Given the description of an element on the screen output the (x, y) to click on. 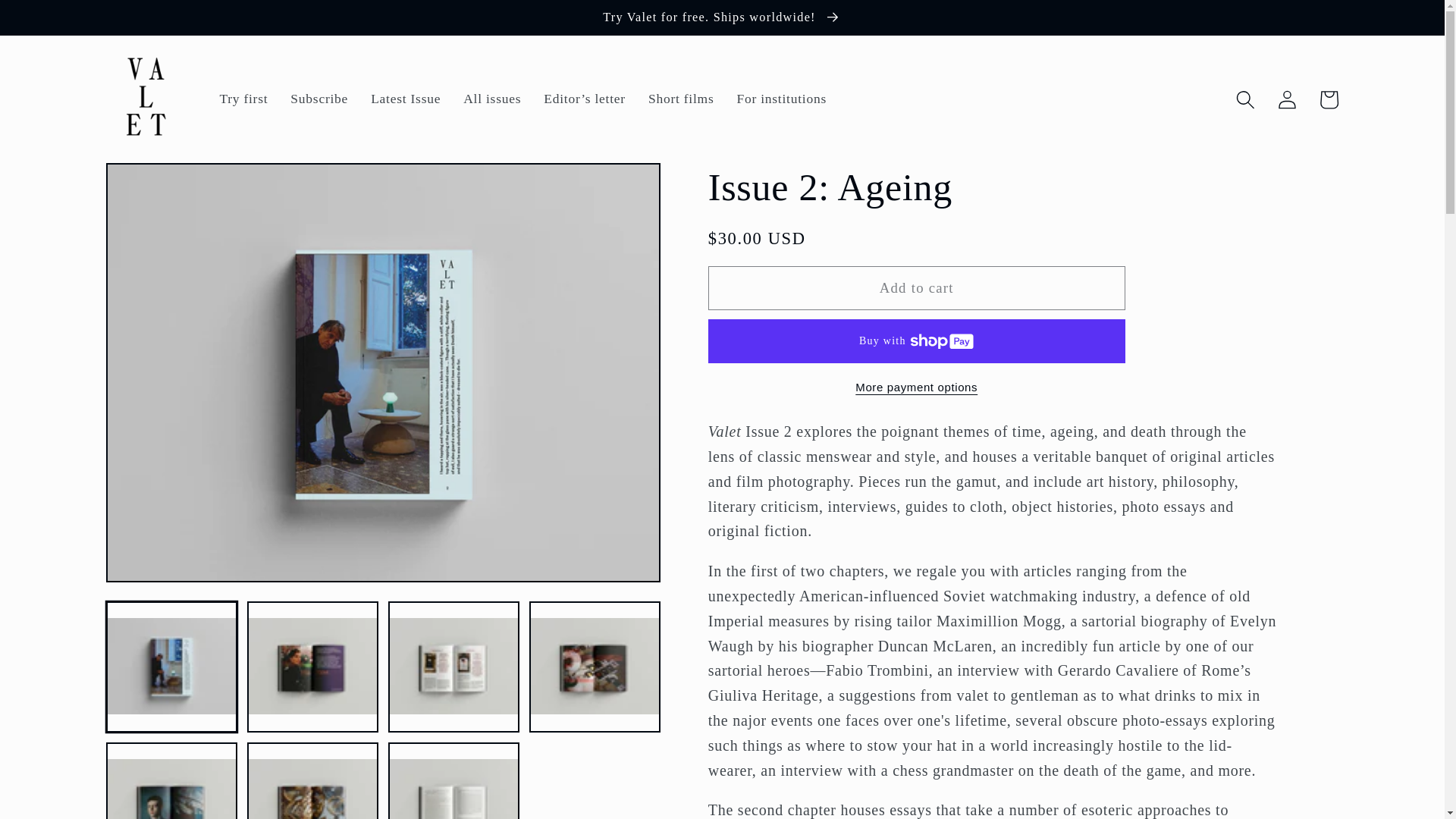
Latest Issue (405, 98)
For institutions (781, 98)
Skip to product information (162, 184)
Subscribe (319, 98)
Short films (681, 98)
All issues (491, 98)
Cart (1328, 99)
Try first (243, 98)
Skip to content (57, 21)
Log in (1286, 99)
